Given the description of an element on the screen output the (x, y) to click on. 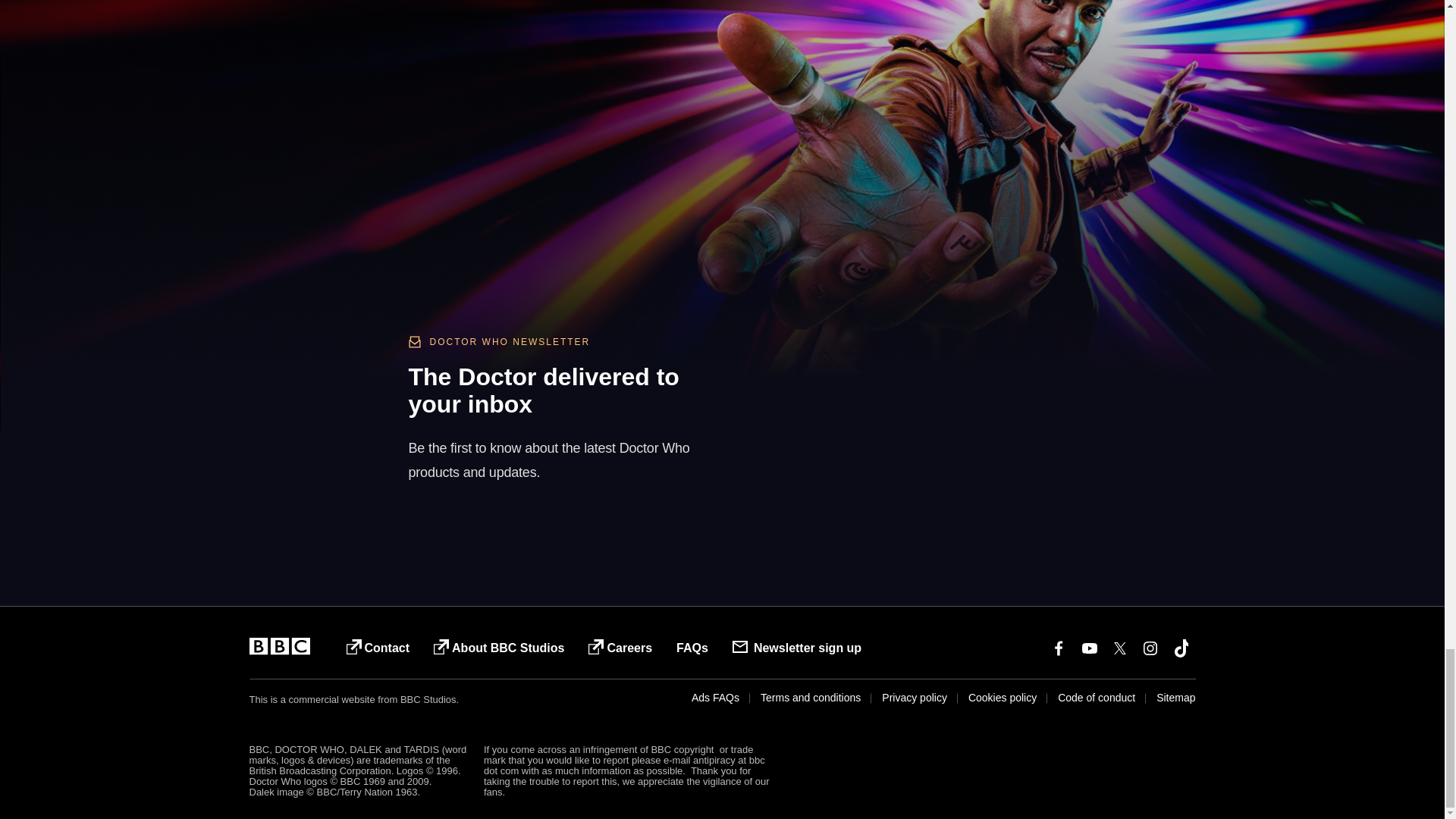
Newsletter (888, 392)
